Given the description of an element on the screen output the (x, y) to click on. 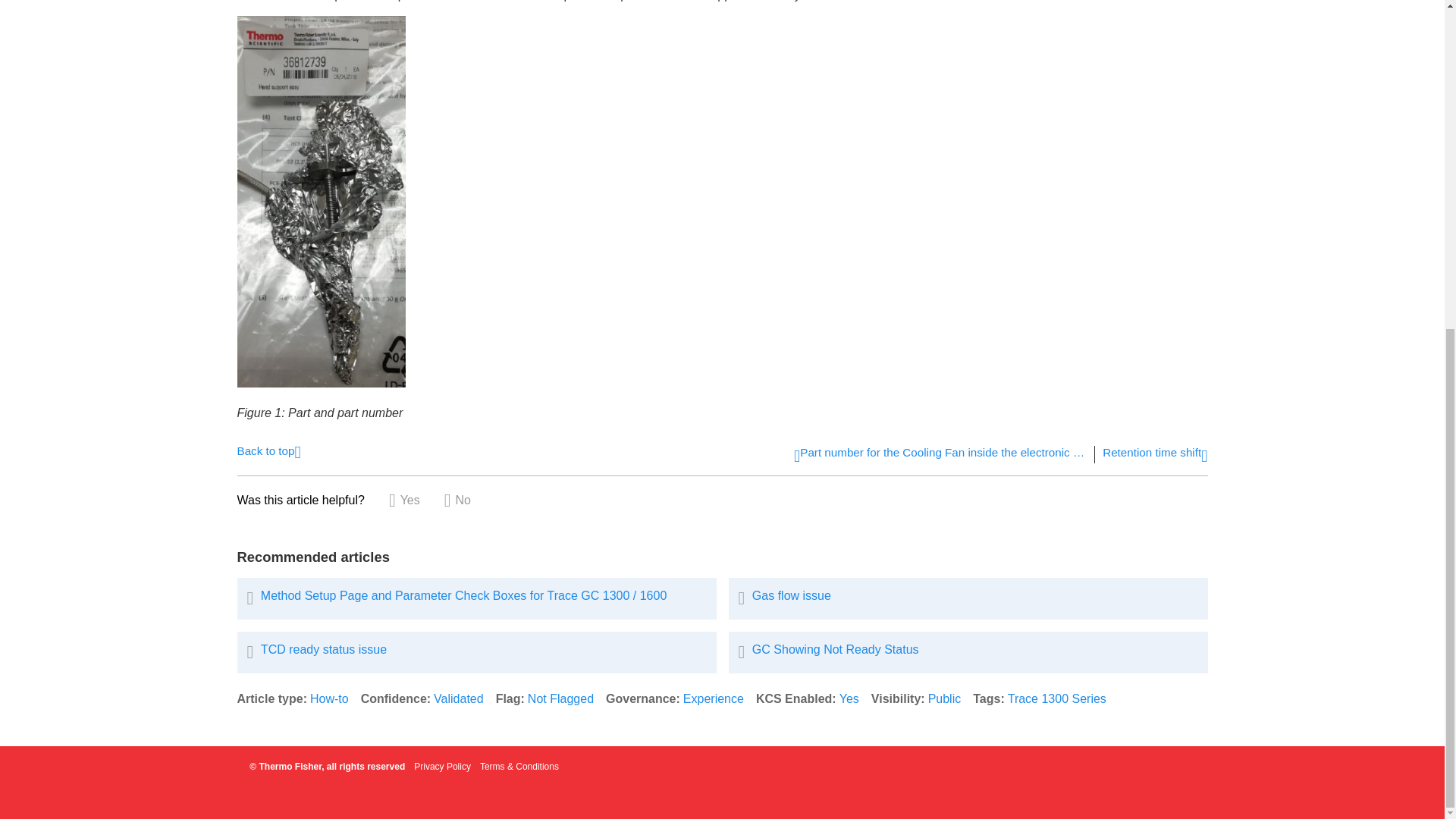
Part number for the Cooling Fan inside the electronic module (940, 454)
TCD ready status issue (476, 652)
Yes (849, 698)
Yes (404, 500)
Gas flow issue (968, 598)
GC Showing Not Ready Status (968, 652)
Back to top (267, 449)
Experience (713, 698)
Retention time shift (1154, 454)
Validated (458, 698)
How-to (329, 698)
GC Showing Not Ready Status (968, 652)
TCD ready status issue (476, 652)
Not Flagged (560, 698)
Jump back to top of this article (267, 449)
